Given the description of an element on the screen output the (x, y) to click on. 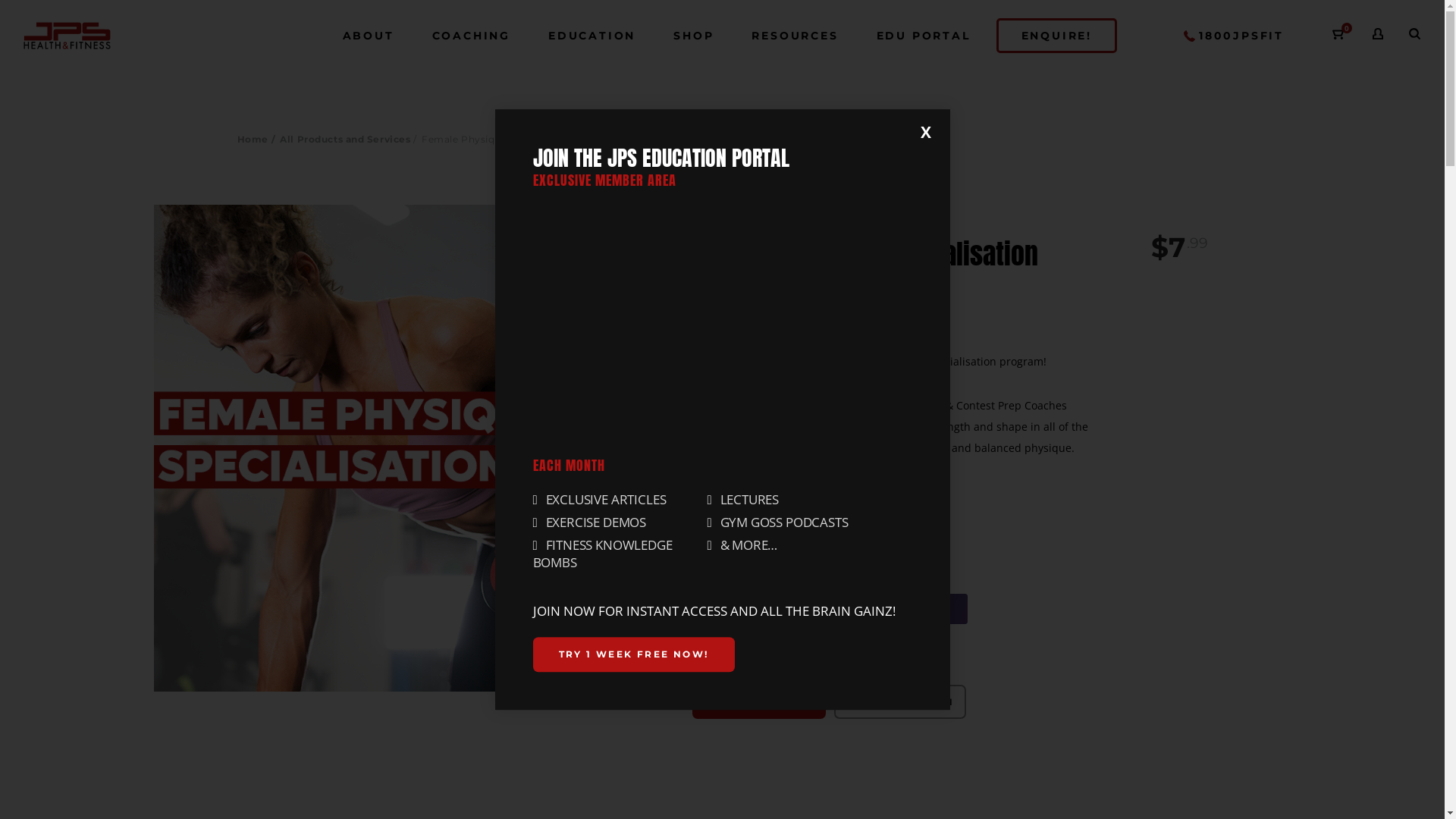
SHOP Element type: text (693, 35)
TRY 1 WEEK FREE NOW! Element type: text (633, 654)
Secure payment button frame Element type: hover (829, 608)
RESOURCES Element type: text (794, 35)
COACHING Element type: text (471, 35)
1800JPSFIT Element type: text (1233, 35)
- Element type: text (709, 528)
0 Element type: text (1339, 33)
EDUCATION Element type: text (591, 35)
ENQUIRE! Element type: text (1056, 35)
Edu Portal Element type: hover (721, 312)
All Products and Services Element type: text (344, 138)
ADD TO CART Element type: text (758, 701)
JPS Health & Fitness Element type: text (66, 35)
+ Element type: text (748, 528)
EDU PORTAL Element type: text (923, 35)
Home Element type: text (251, 138)
ABOUT Element type: text (368, 35)
ASK A QUESTION Element type: text (900, 701)
